Given the description of an element on the screen output the (x, y) to click on. 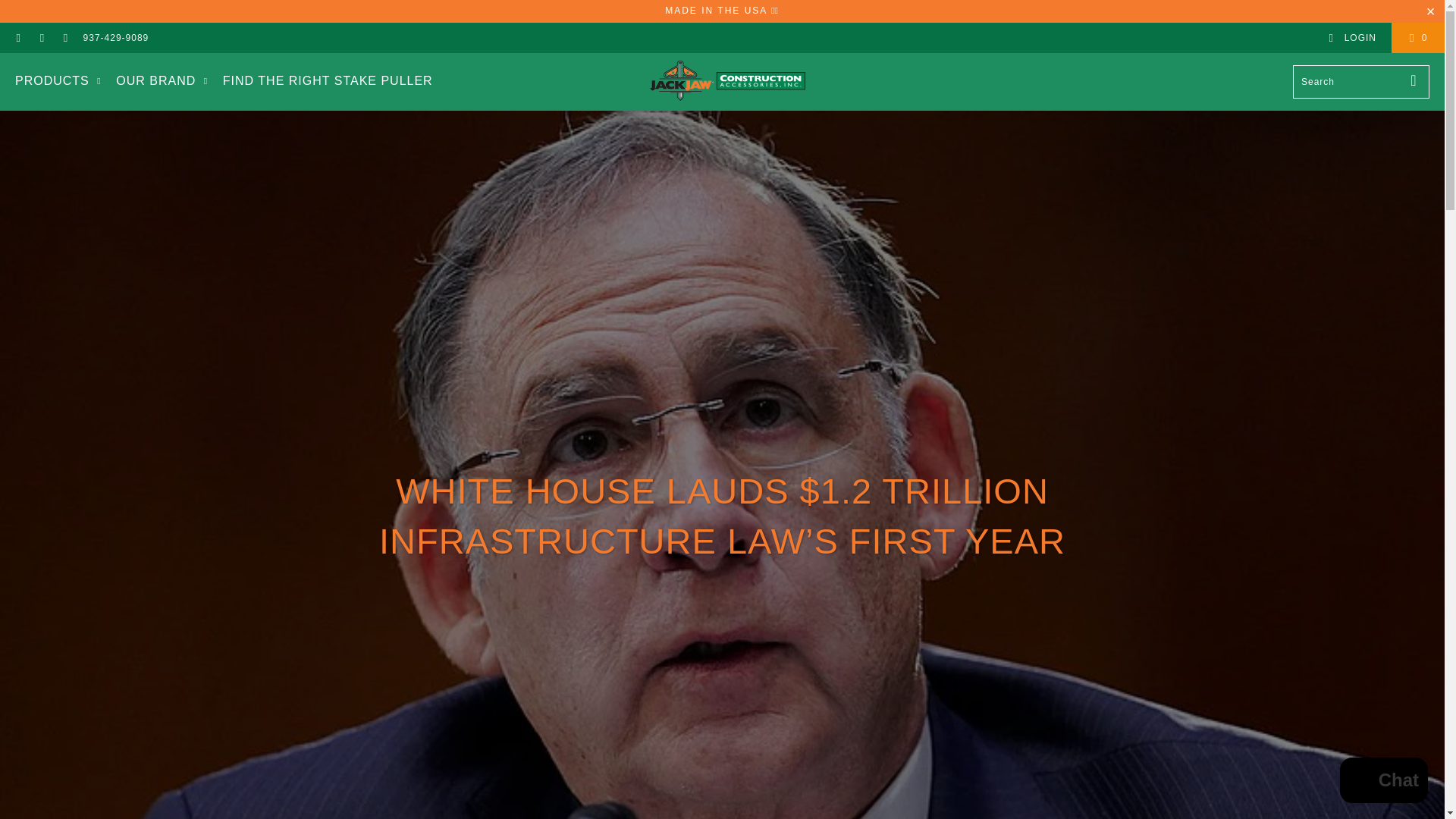
Construction Accessories Inc. (727, 81)
Construction Accessories Inc. on Facebook (17, 37)
Construction Accessories Inc. on Instagram (64, 37)
Construction Accessories Inc. on YouTube (41, 37)
My Account  (1351, 37)
